Given the description of an element on the screen output the (x, y) to click on. 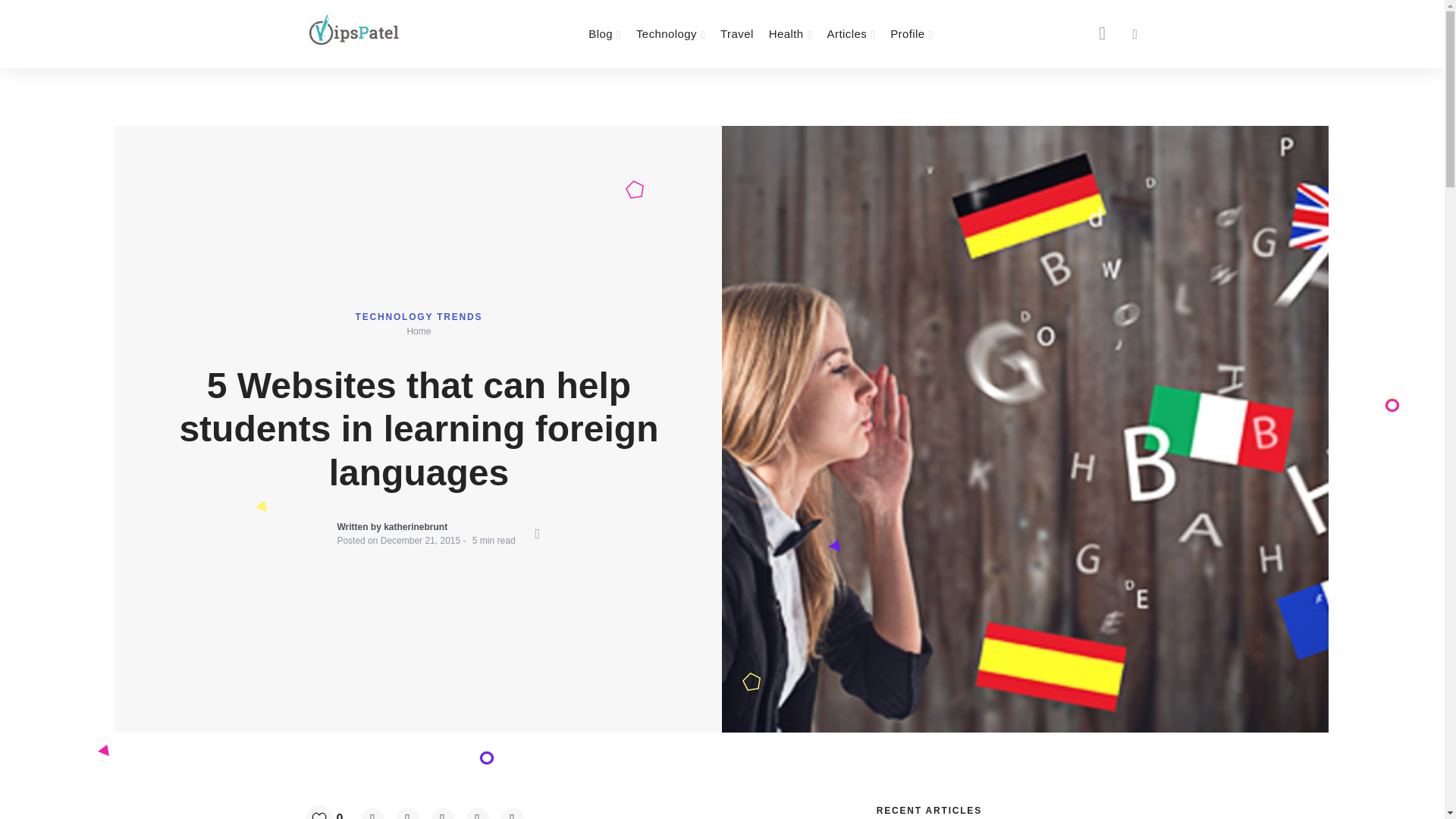
Blog (604, 33)
Articles (851, 33)
December 21, 2015 (420, 540)
Technology (670, 33)
0 (329, 812)
Health (790, 33)
TECHNOLOGY TRENDS (419, 317)
Health (790, 33)
Travel (737, 33)
Articles (851, 33)
Technology (670, 33)
Travel (737, 33)
katherinebrunt (415, 526)
Profile (911, 33)
Home (418, 330)
